Given the description of an element on the screen output the (x, y) to click on. 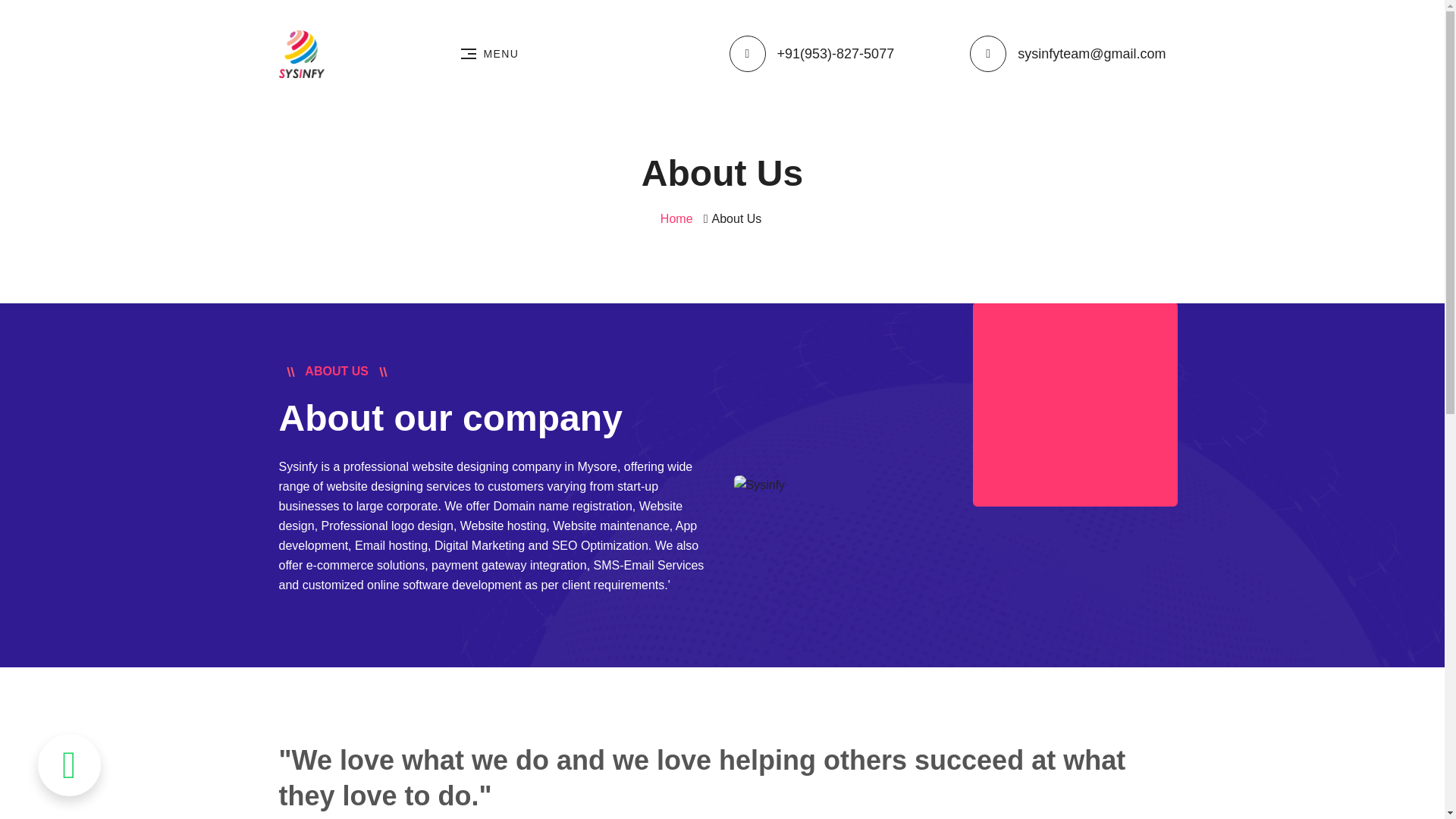
Home (677, 218)
MENU (490, 53)
